Given the description of an element on the screen output the (x, y) to click on. 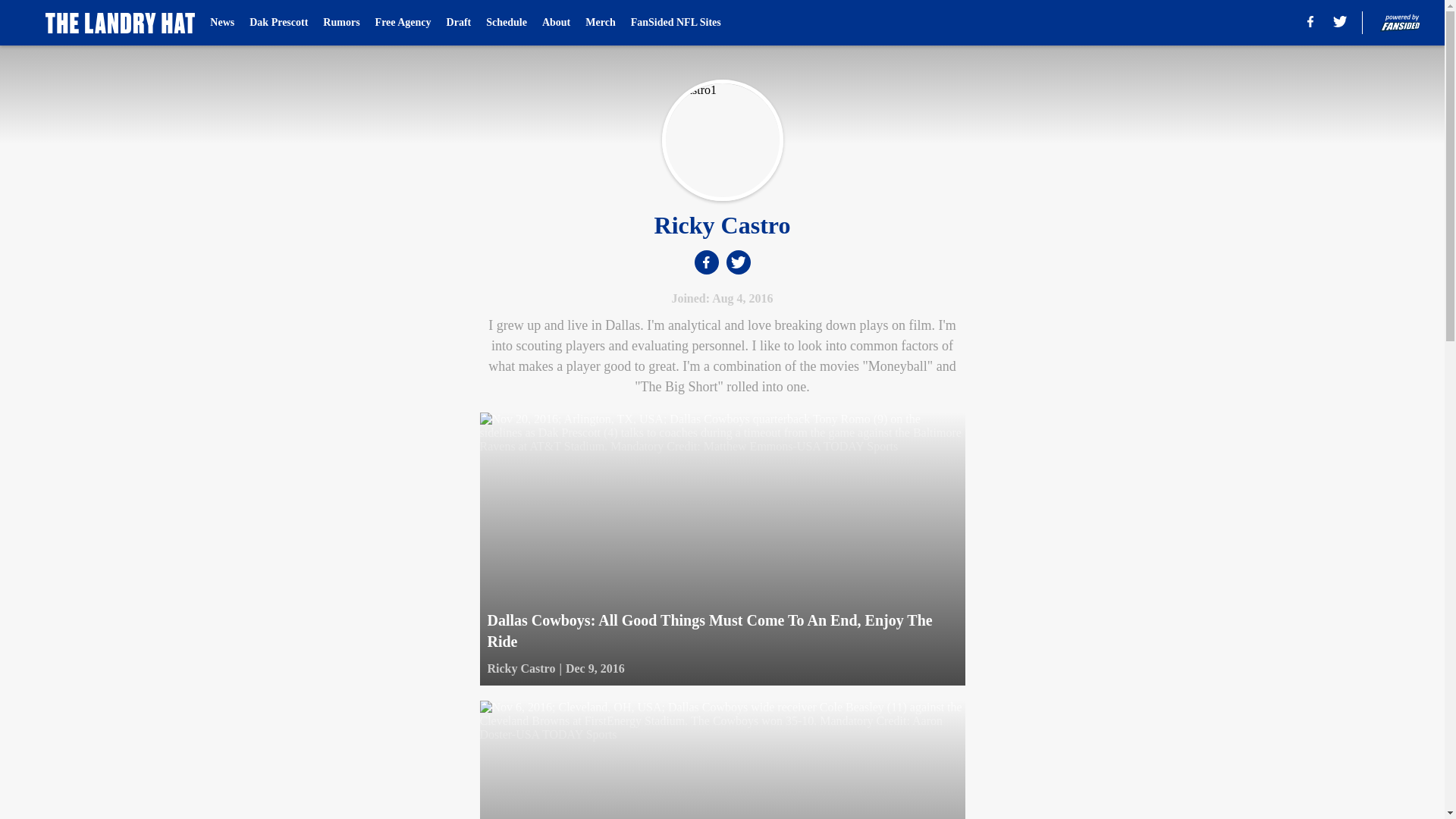
Merch (599, 22)
Dak Prescott (277, 22)
FanSided NFL Sites (675, 22)
Cowboys vs Steelers: A Fantasy Football Goldmine (721, 760)
News (221, 22)
About (555, 22)
Free Agency (402, 22)
Draft (458, 22)
Schedule (506, 22)
rcastro1 (721, 140)
Ricky Castro (520, 669)
Rumors (341, 22)
